Given the description of an element on the screen output the (x, y) to click on. 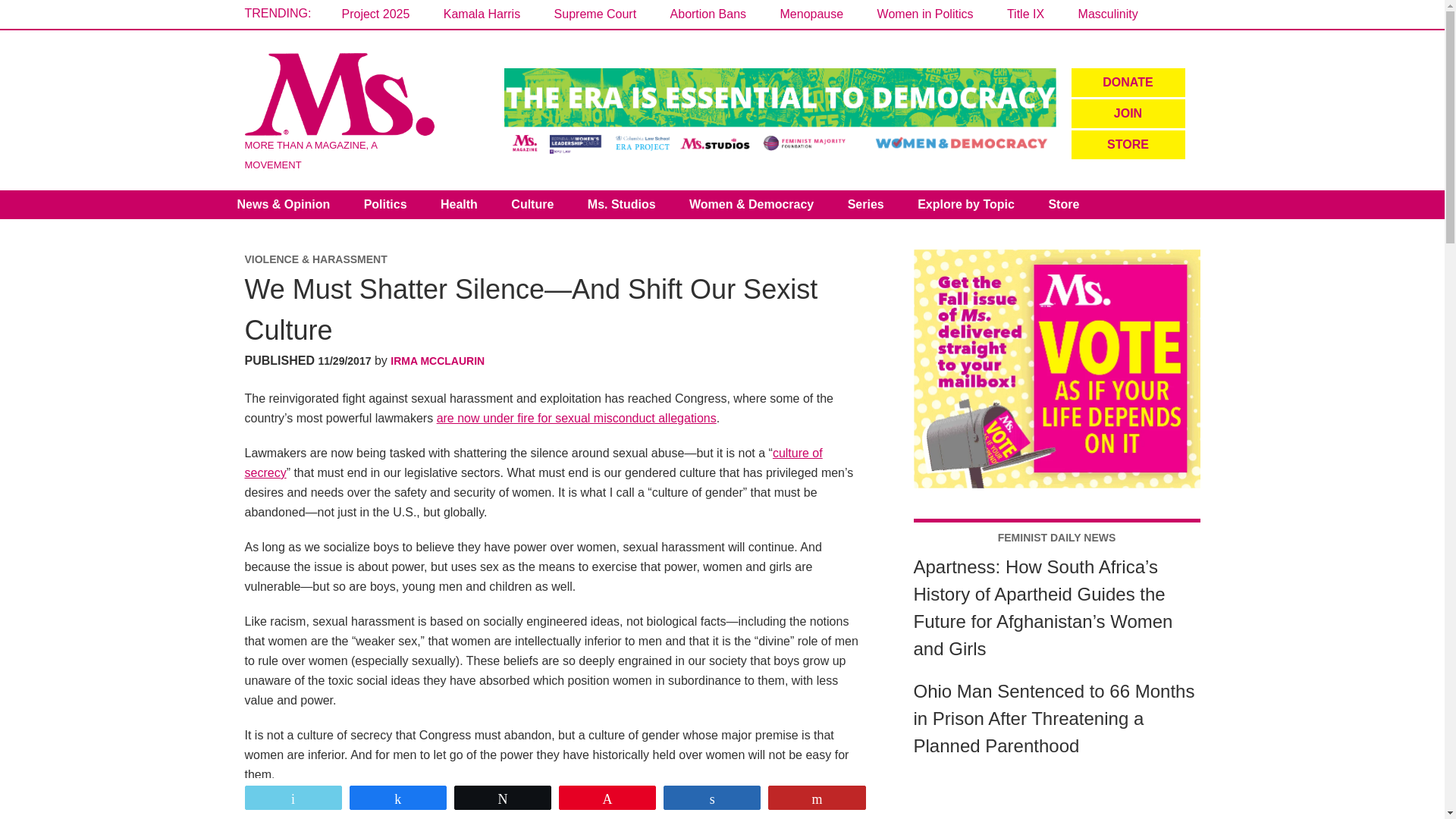
Menopause (812, 13)
Kamala Harris (481, 13)
IRMA MCCLAURIN (437, 360)
Title IX (1025, 13)
Posts by Irma McClaurin (437, 360)
Masculinity (1108, 13)
Culture (532, 204)
STORE (1127, 144)
Health (459, 204)
JOIN (1127, 113)
